Given the description of an element on the screen output the (x, y) to click on. 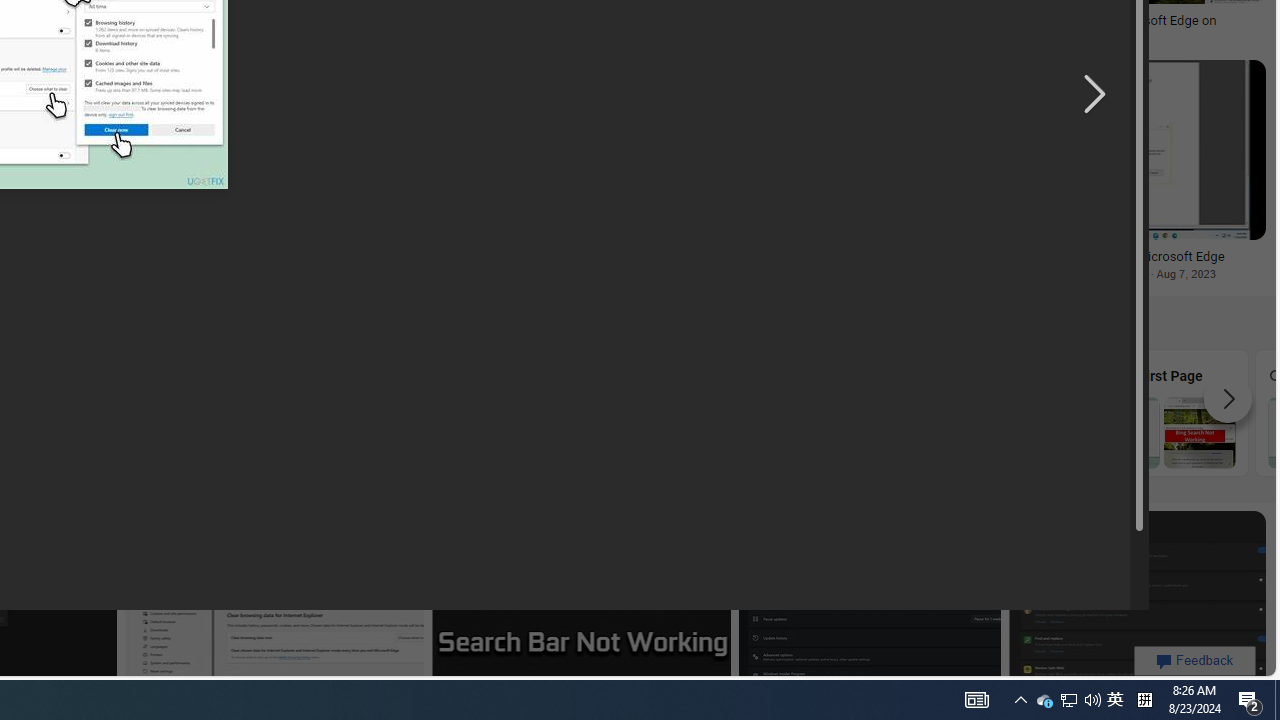
Why First Page (1162, 412)
Exact (441, 412)
Bing searches not working? : r/bing (104, 21)
Bing Visual Search Not Working (81, 432)
Scroll more suggestions right (1227, 398)
Video (262, 412)
Bing Search Bar Not Working (622, 432)
How to fix Bing search not working in Microsoft Edge?Save (523, 173)
How to fix Bing search not working in Microsoft Edge? (519, 264)
Bing Exact Search Not Working Exact (441, 412)
How to fix Bing search not working in Microsoft Edge? (519, 264)
Bing Video Search Not Working (262, 432)
